Given the description of an element on the screen output the (x, y) to click on. 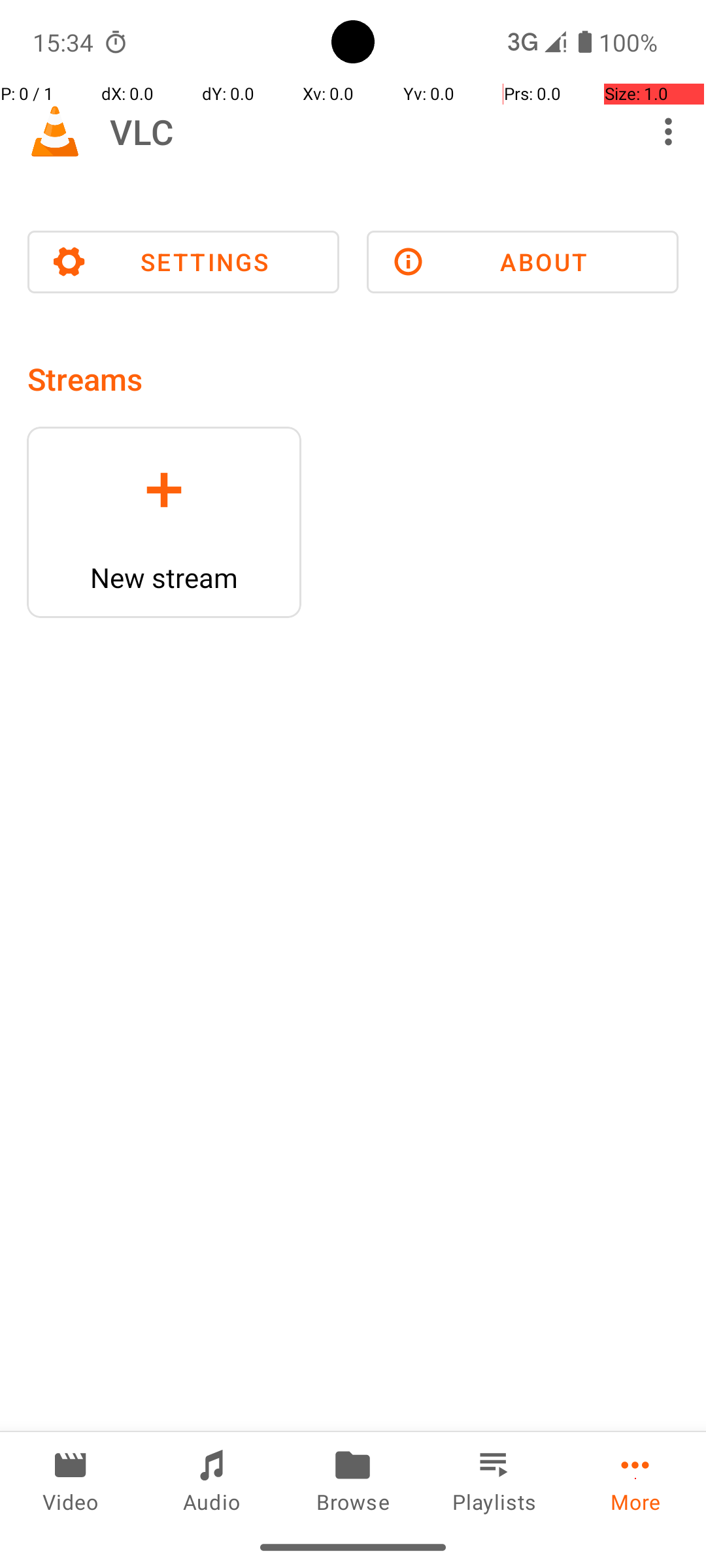
SETTINGS Element type: android.widget.Button (183, 261)
ABOUT Element type: android.widget.Button (522, 261)
Streams Element type: android.widget.TextView (84, 378)
Browse Element type: android.widget.FrameLayout (352, 1478)
New stream Element type: android.widget.TextView (163, 576)
